Given the description of an element on the screen output the (x, y) to click on. 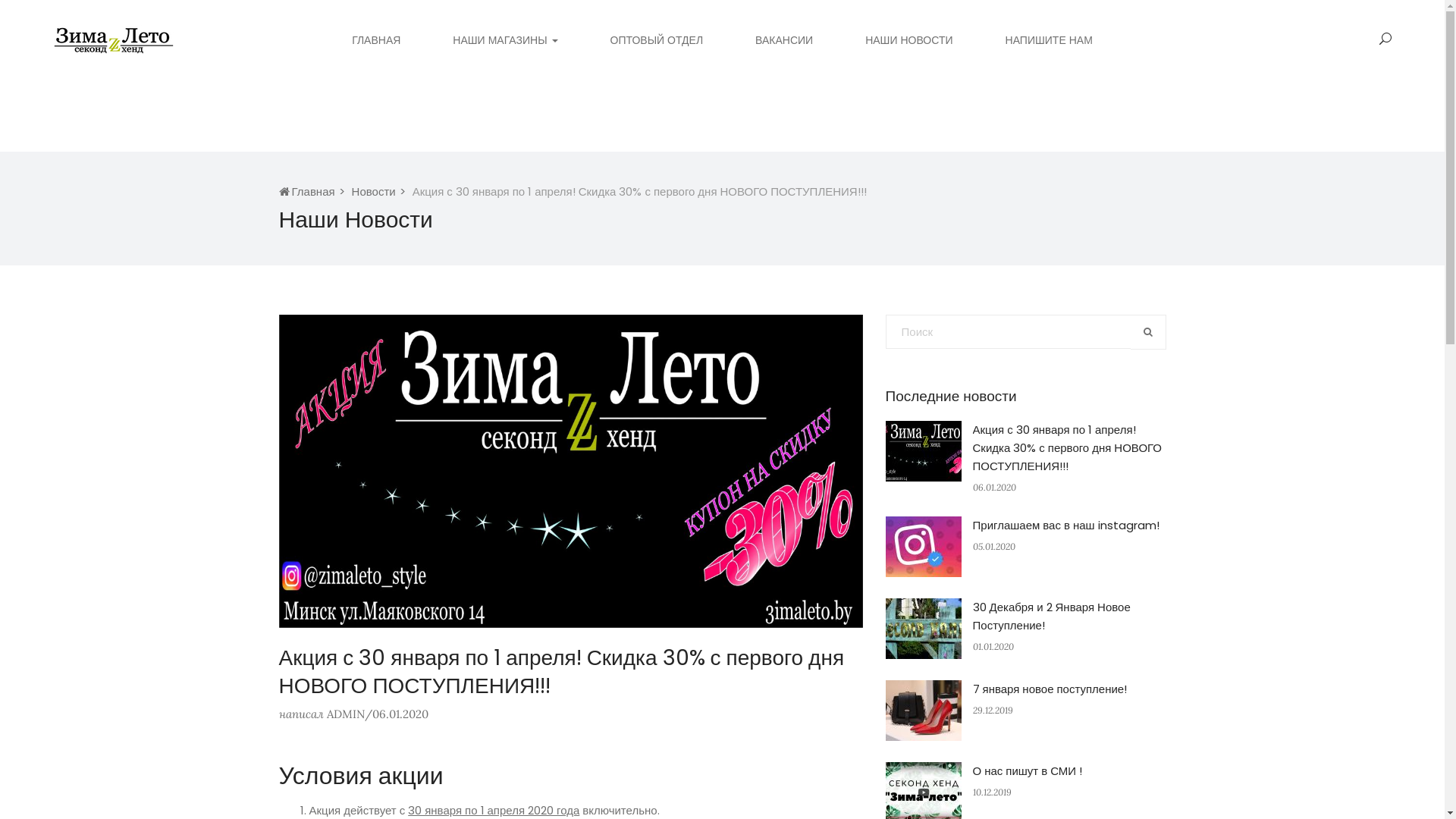
ADMIN Element type: text (345, 713)
